Given the description of an element on the screen output the (x, y) to click on. 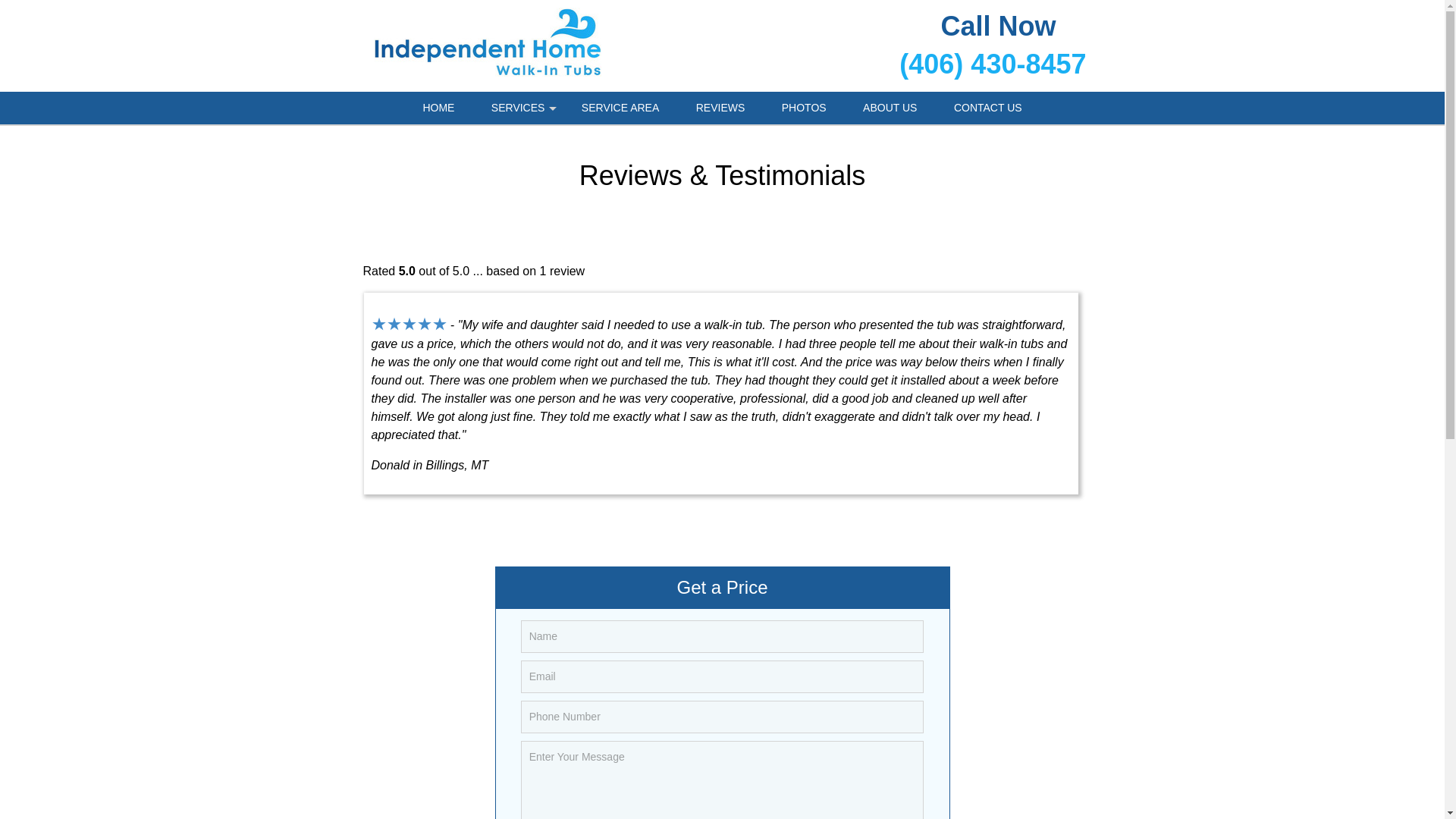
HOME (438, 107)
SERVICE AREA (619, 107)
PHOTOS (804, 107)
ABOUT US (889, 107)
CONTACT US (988, 107)
REVIEWS (720, 107)
